Given the description of an element on the screen output the (x, y) to click on. 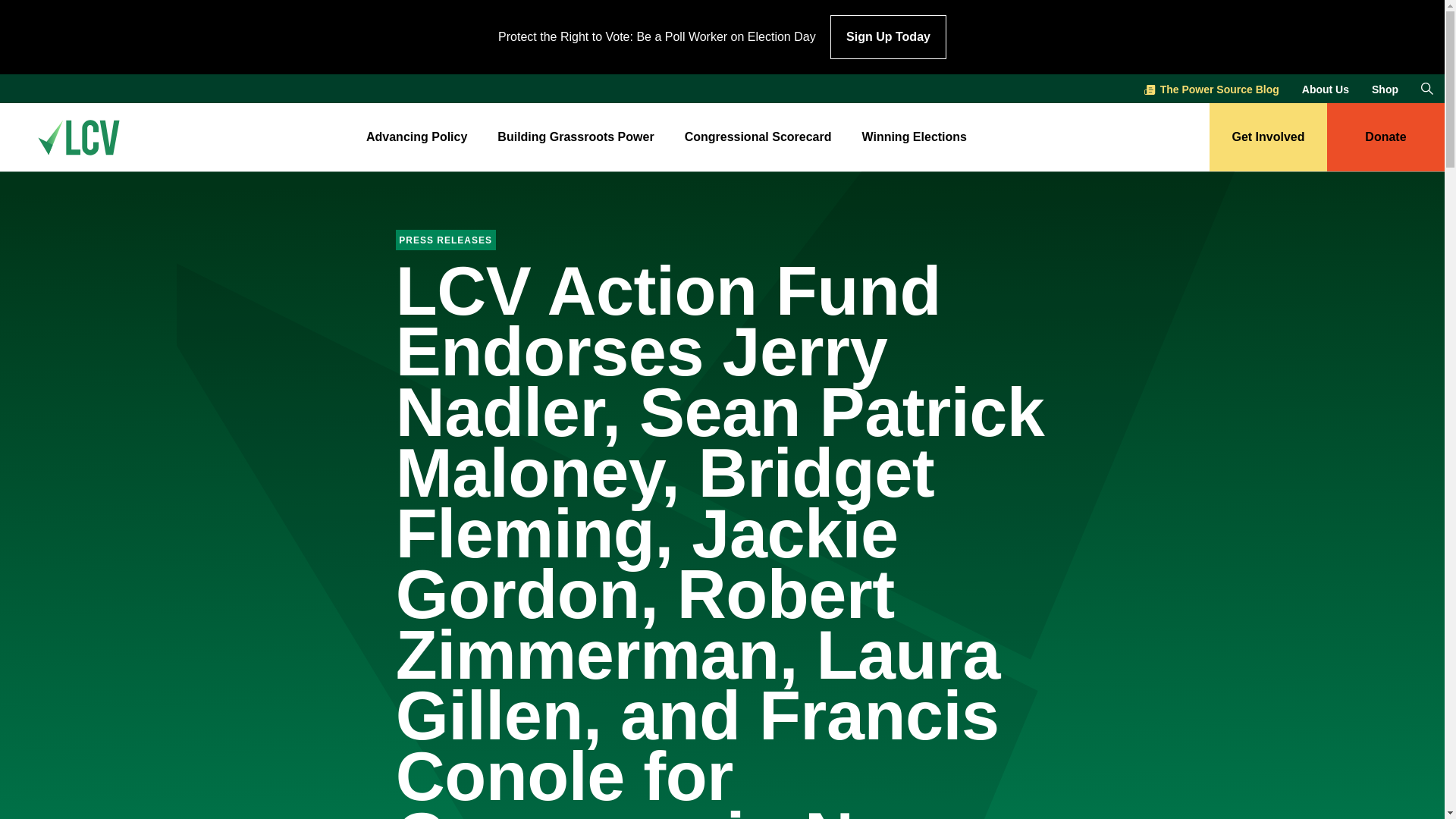
The Power Source Blog (1211, 52)
PRESS RELEASES (446, 237)
Get Involved (1267, 137)
Building Grassroots Power (575, 137)
Winning Elections (913, 137)
Sign Up Today (887, 36)
Shop (1384, 76)
Congressional Scorecard (757, 137)
Sign Up Today (887, 7)
Advancing Policy (416, 137)
